Given the description of an element on the screen output the (x, y) to click on. 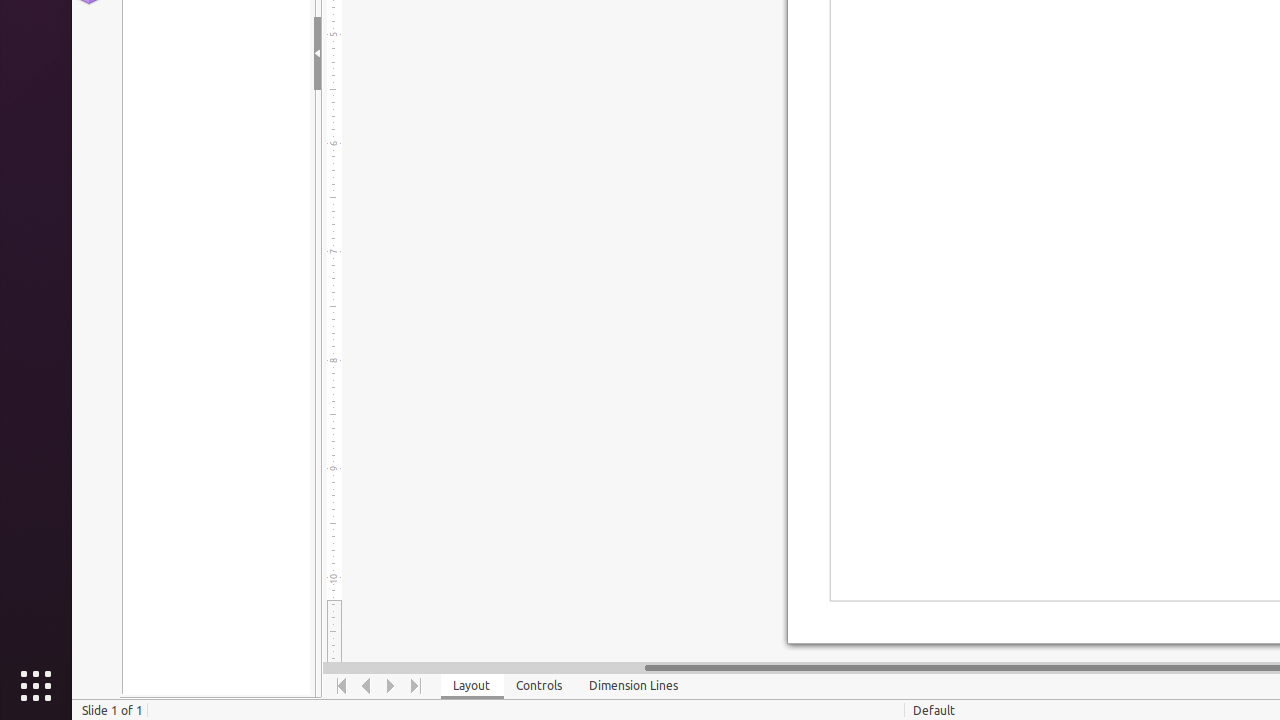
Move To Home Element type: push-button (341, 686)
Move Right Element type: push-button (391, 686)
Controls Element type: page-tab (540, 686)
